Given the description of an element on the screen output the (x, y) to click on. 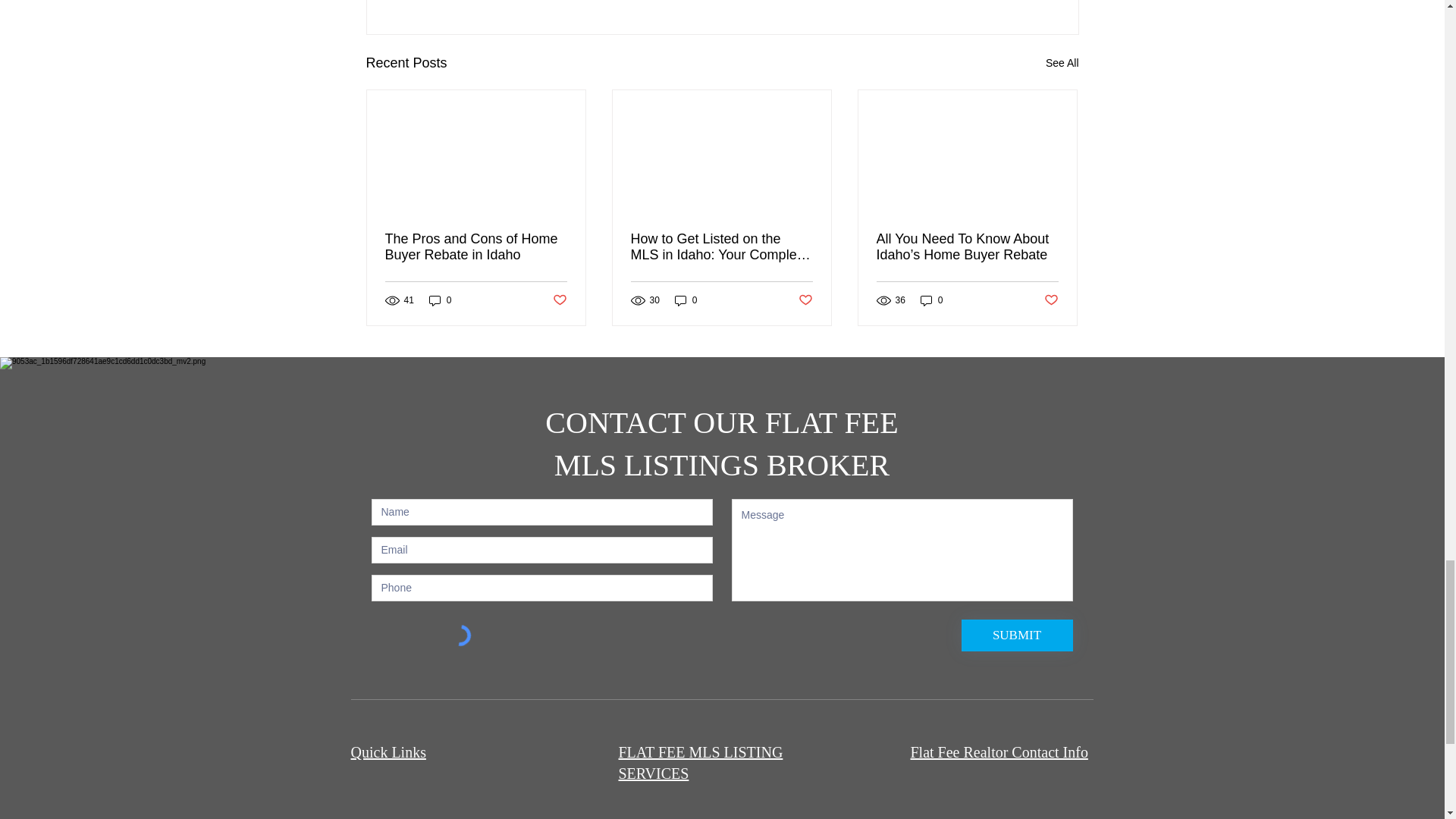
Post not marked as liked (1050, 300)
0 (440, 300)
The Pros and Cons of Home Buyer Rebate in Idaho (476, 246)
How to Get Listed on the MLS in Idaho: Your Complete Guide (721, 246)
Post not marked as liked (558, 300)
See All (1061, 63)
0 (931, 300)
Post not marked as liked (804, 300)
0 (685, 300)
SUBMIT (1016, 635)
